Given the description of an element on the screen output the (x, y) to click on. 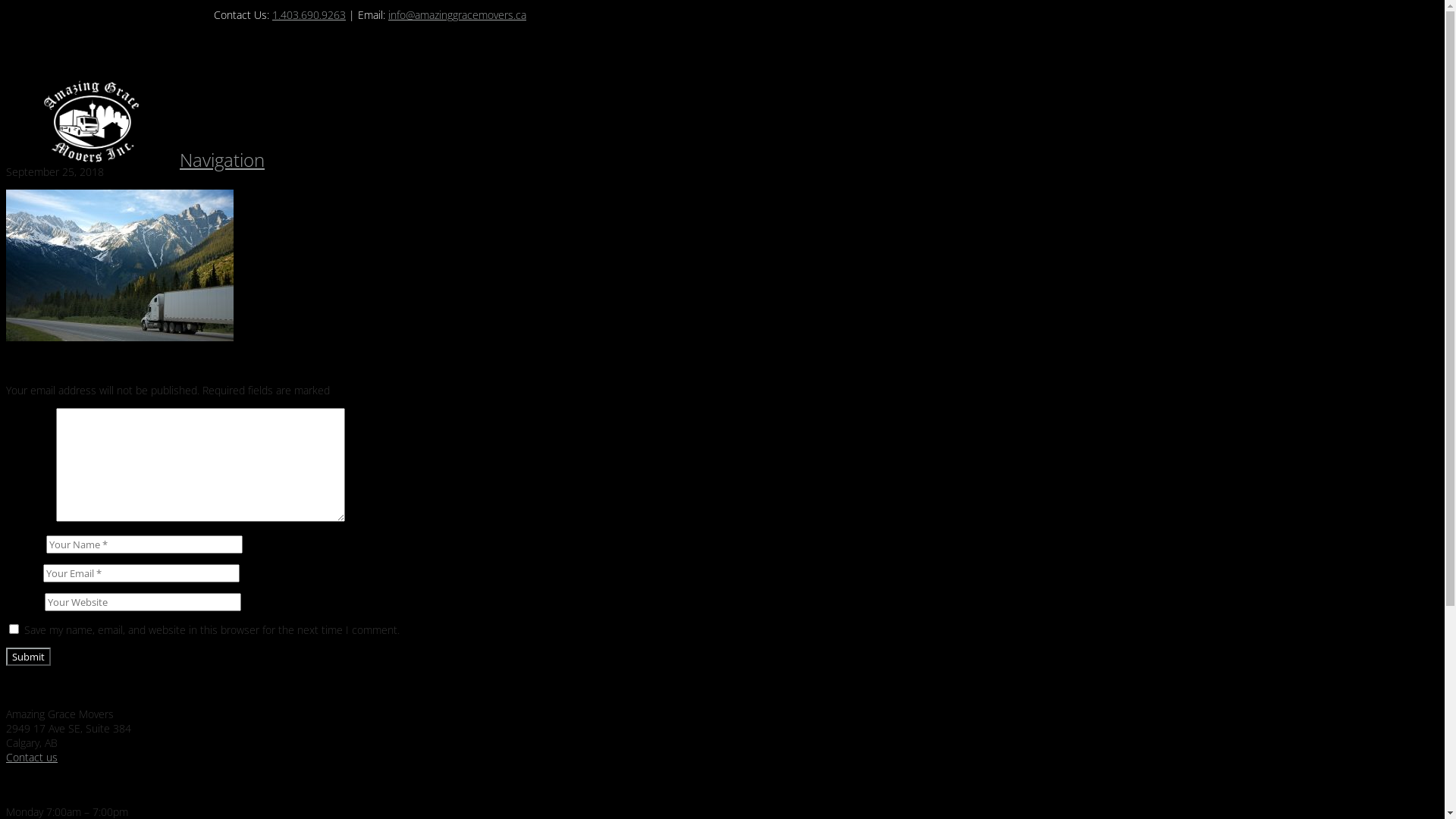
1.403.690.9263 Element type: text (308, 14)
Navigation Element type: text (221, 159)
HOME Element type: text (63, 181)
Submit Element type: text (28, 656)
CONTACT US Element type: text (72, 282)
HOME Element type: text (53, 253)
info@amazinggracemovers.ca Element type: text (457, 14)
BLOG Element type: text (61, 196)
BLOG Element type: text (51, 267)
Amazing Grace Movers Element type: hover (91, 138)
Contact us Element type: text (31, 756)
CONTACT US Element type: text (82, 210)
